Given the description of an element on the screen output the (x, y) to click on. 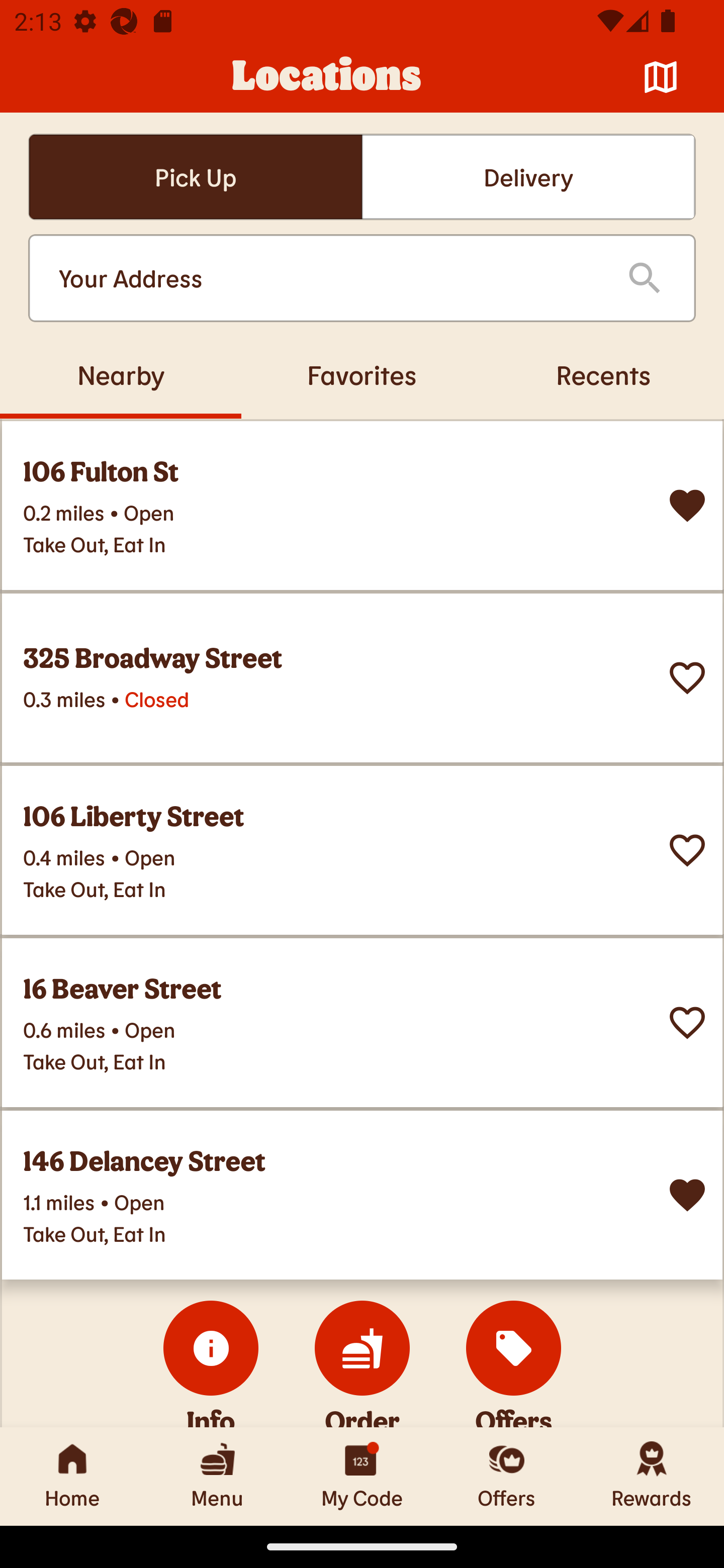
Map 󰦂 (660, 77)
Locations (326, 77)
Pick UpSelected Pick UpSelected Pick Up (195, 176)
Delivery Delivery Delivery (528, 176)
Your Address (327, 277)
Nearby (120, 374)
Favorites (361, 374)
Recents (603, 374)
Remove from Favorites?  (687, 505)
Set this restaurant as a favorite  (687, 677)
Set this restaurant as a favorite  (687, 850)
Set this restaurant as a favorite  (687, 1022)
Remove from Favorites?  (687, 1195)
Info  (210, 1347)
Order (361, 1347)
Offers  (513, 1347)
Home (72, 1475)
Menu (216, 1475)
My Code (361, 1475)
Offers (506, 1475)
Rewards (651, 1475)
